Given the description of an element on the screen output the (x, y) to click on. 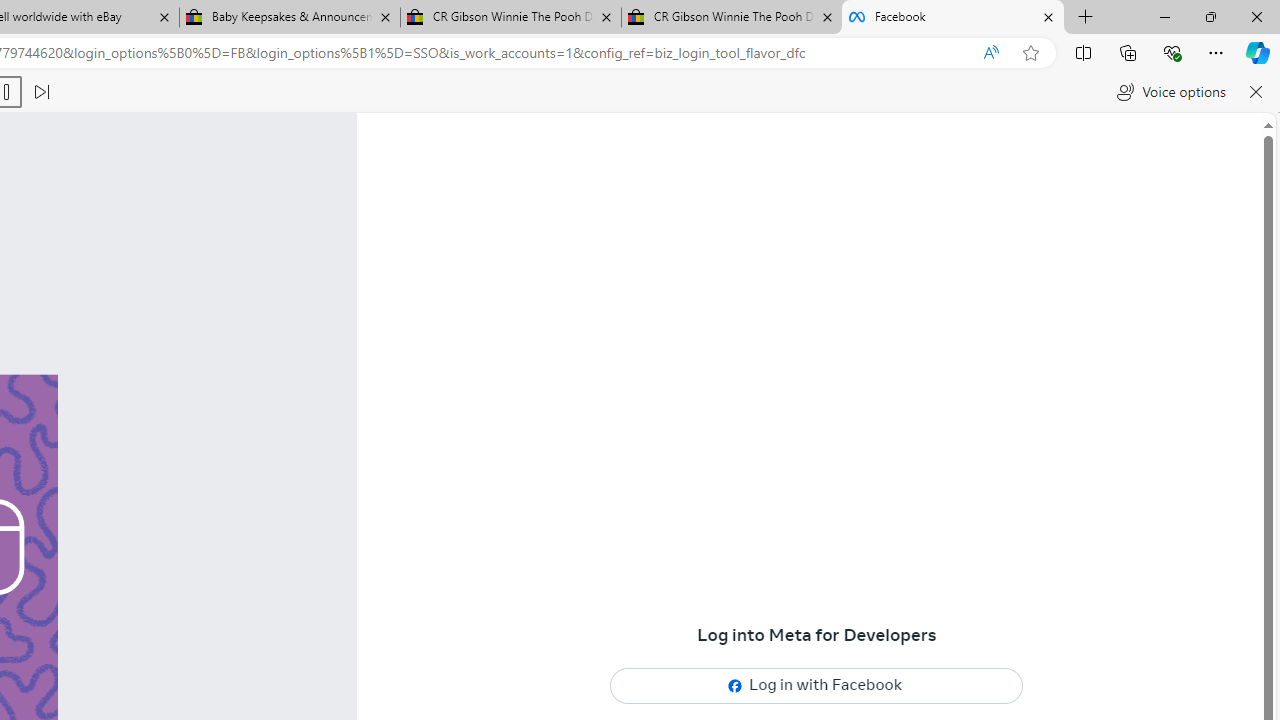
Log in with Facebook (817, 685)
